Given the description of an element on the screen output the (x, y) to click on. 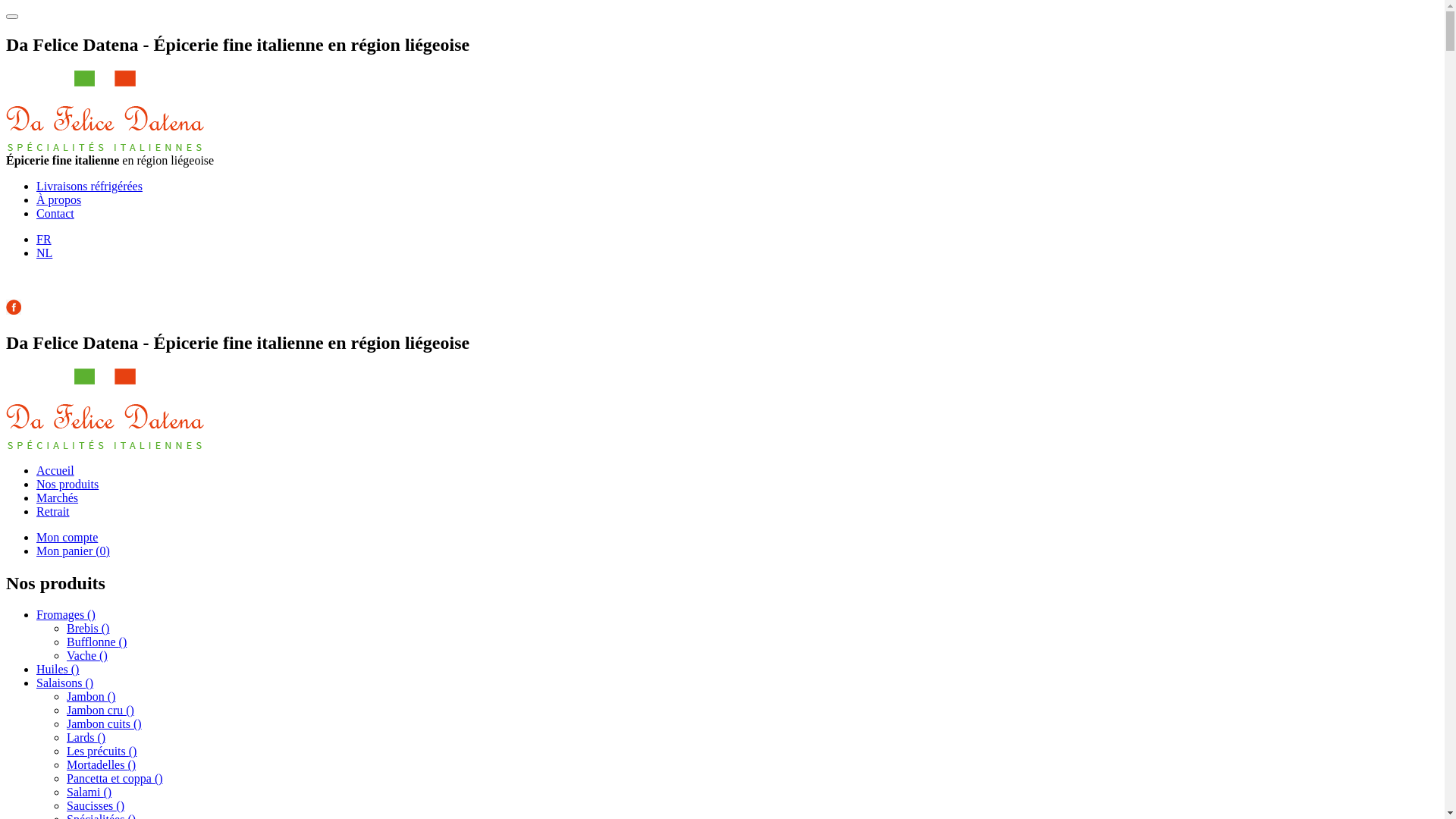
Vache () Element type: text (86, 655)
Bufflonne () Element type: text (96, 641)
Jambon cuits () Element type: text (103, 723)
FR Element type: text (43, 238)
Salaisons () Element type: text (64, 682)
Saucisses () Element type: text (95, 805)
Fromages () Element type: text (65, 614)
NL Element type: text (44, 252)
Huiles () Element type: text (57, 668)
Nos produits Element type: text (67, 483)
Jambon cru () Element type: text (100, 709)
Brebis () Element type: text (87, 627)
Contact Element type: text (55, 213)
Pancetta et coppa () Element type: text (114, 777)
Retrait Element type: text (52, 511)
Mon panier (0) Element type: text (72, 550)
Jambon () Element type: text (90, 696)
Accueil Element type: text (55, 470)
Salami () Element type: text (88, 791)
Lards () Element type: text (85, 737)
Mon compte Element type: text (66, 536)
Mortadelles () Element type: text (100, 764)
